Given the description of an element on the screen output the (x, y) to click on. 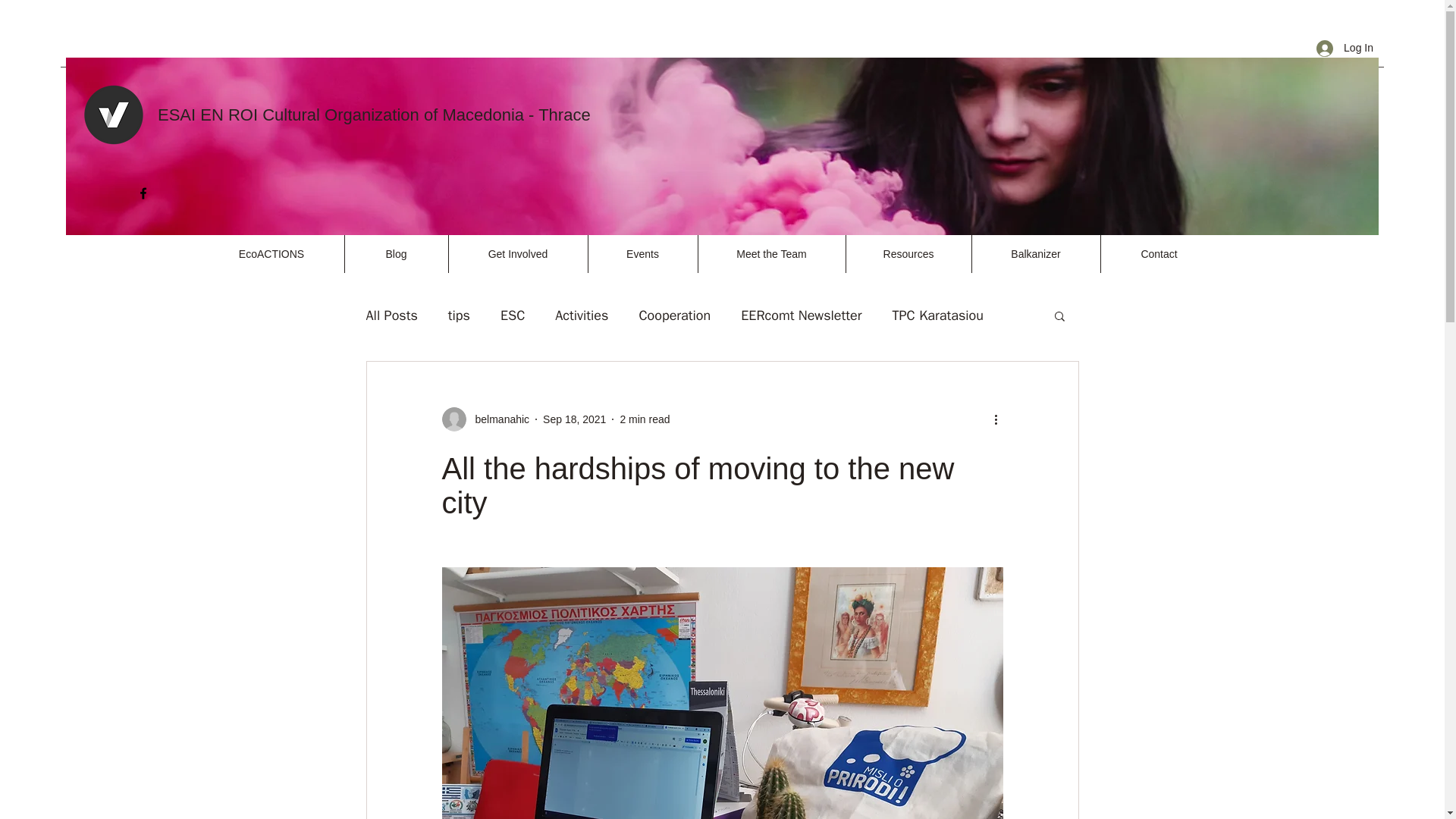
Resources (907, 253)
2 min read (644, 418)
ESAI EN ROI Cultural Organization of Macedonia - Thrace (374, 114)
Blog (395, 253)
Meet the Team (771, 253)
EcoACTIONS (270, 253)
Sep 18, 2021 (574, 418)
TPC Karatasiou (938, 315)
Events (641, 253)
belmanahic (485, 419)
